Given the description of an element on the screen output the (x, y) to click on. 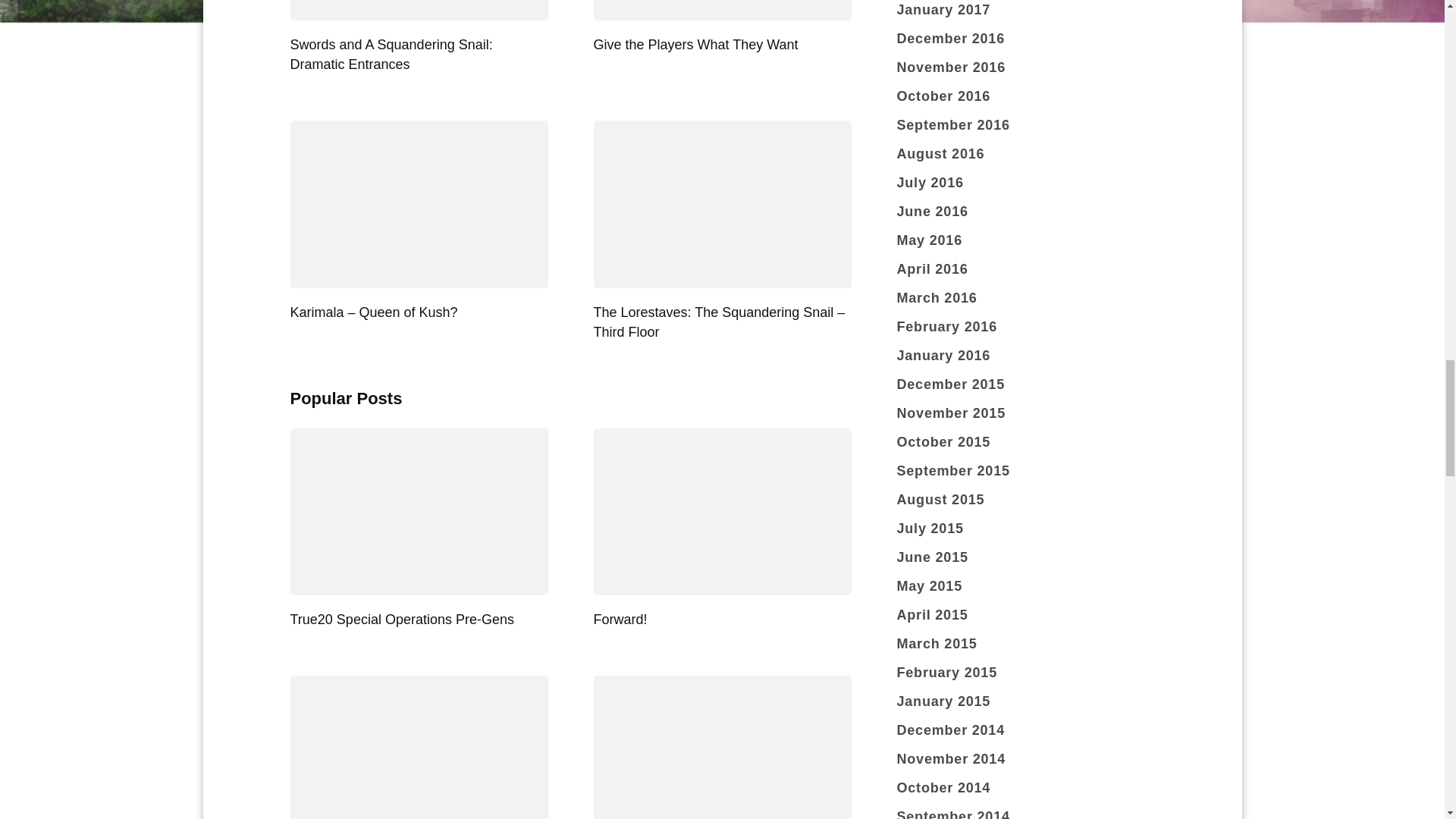
Swords and A Squandering Snail: Dramatic Entrances (390, 54)
Forward! (619, 619)
True20 Special Operations Pre-Gens (401, 619)
Give the Players What They Want (694, 44)
